Given the description of an element on the screen output the (x, y) to click on. 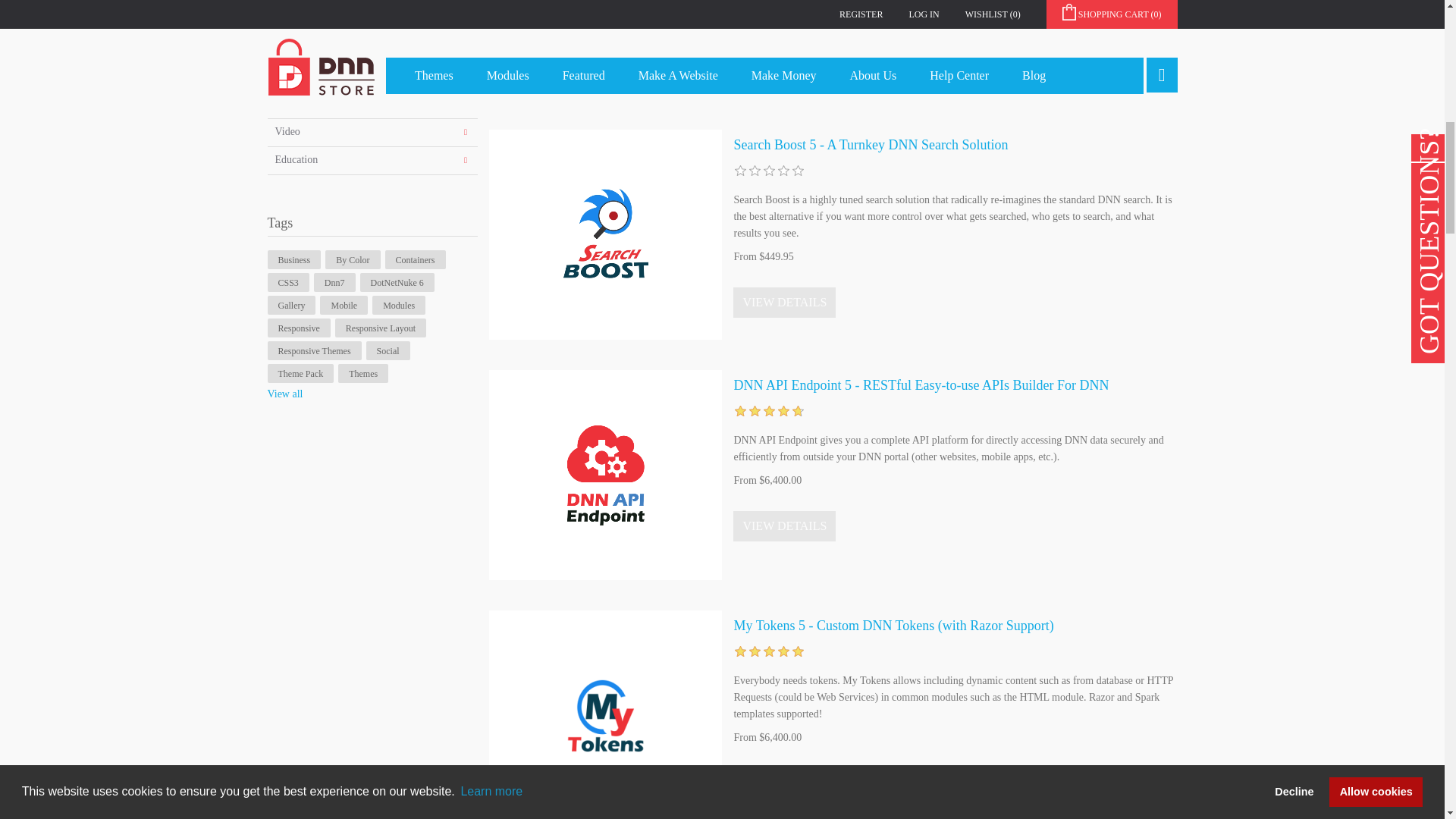
View Details (784, 302)
View Details (784, 60)
Picture of Search Boost 5 - A Turnkey DNN Search Solution (605, 234)
View Details (784, 783)
View Details (784, 526)
